Given the description of an element on the screen output the (x, y) to click on. 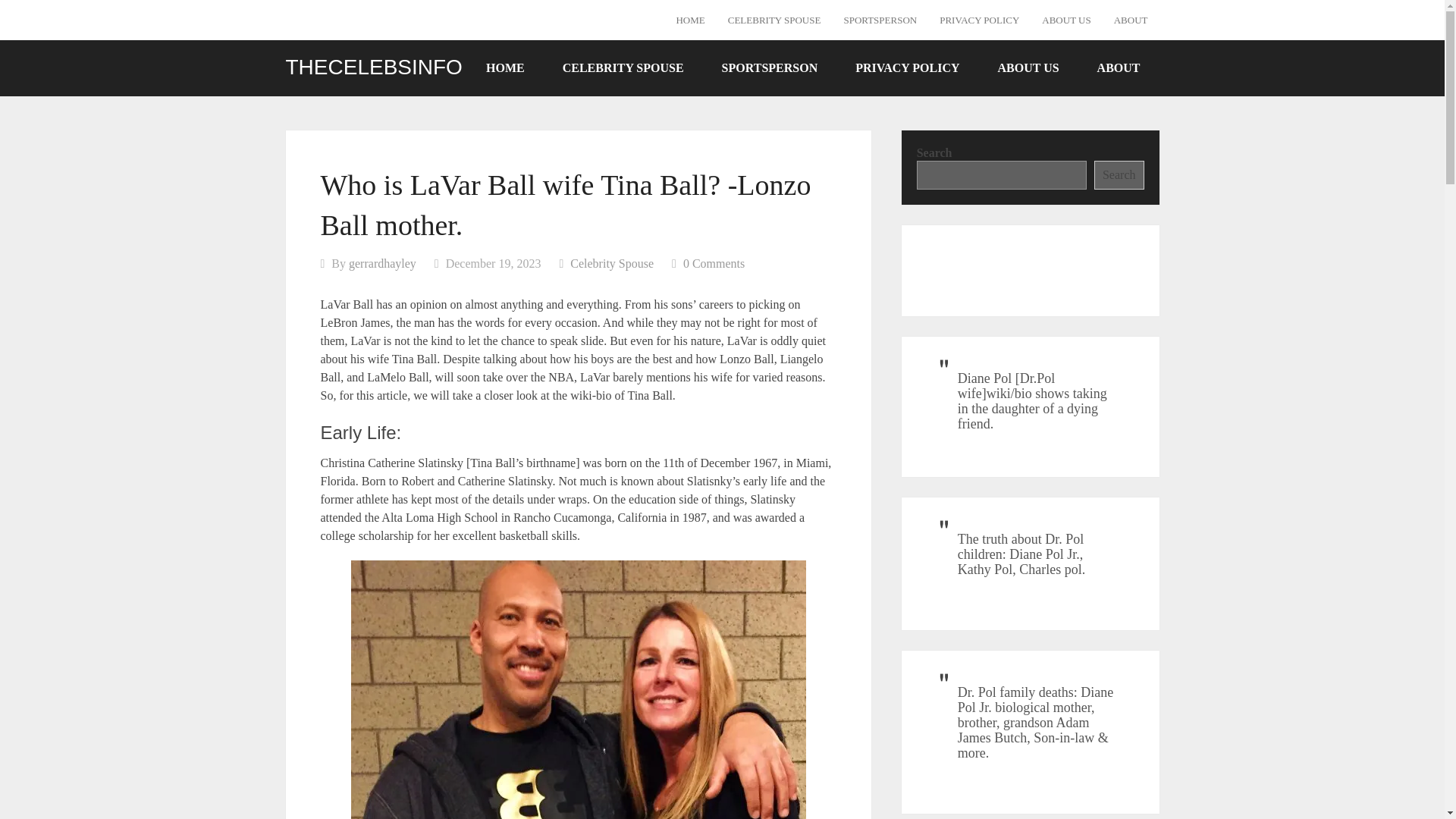
gerrardhayley (382, 263)
ABOUT (1118, 67)
ABOUT US (1028, 67)
HOME (505, 67)
0 Comments (713, 263)
Posts by gerrardhayley (382, 263)
ABOUT US (1066, 20)
PRIVACY POLICY (906, 67)
Search (1119, 174)
